Given the description of an element on the screen output the (x, y) to click on. 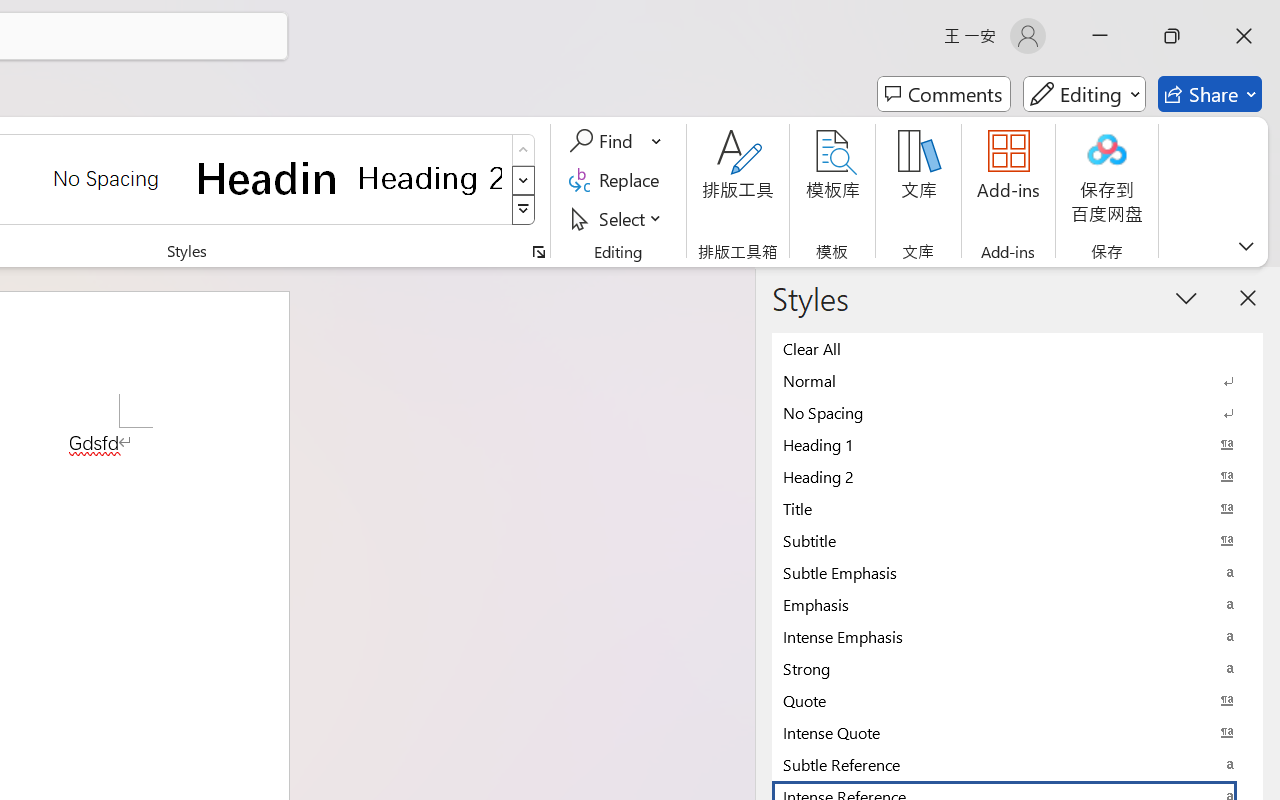
Row Down (523, 180)
Strong (1017, 668)
Subtle Emphasis (1017, 572)
Replace... (617, 179)
Select (618, 218)
Title (1017, 508)
Row up (523, 150)
